Given the description of an element on the screen output the (x, y) to click on. 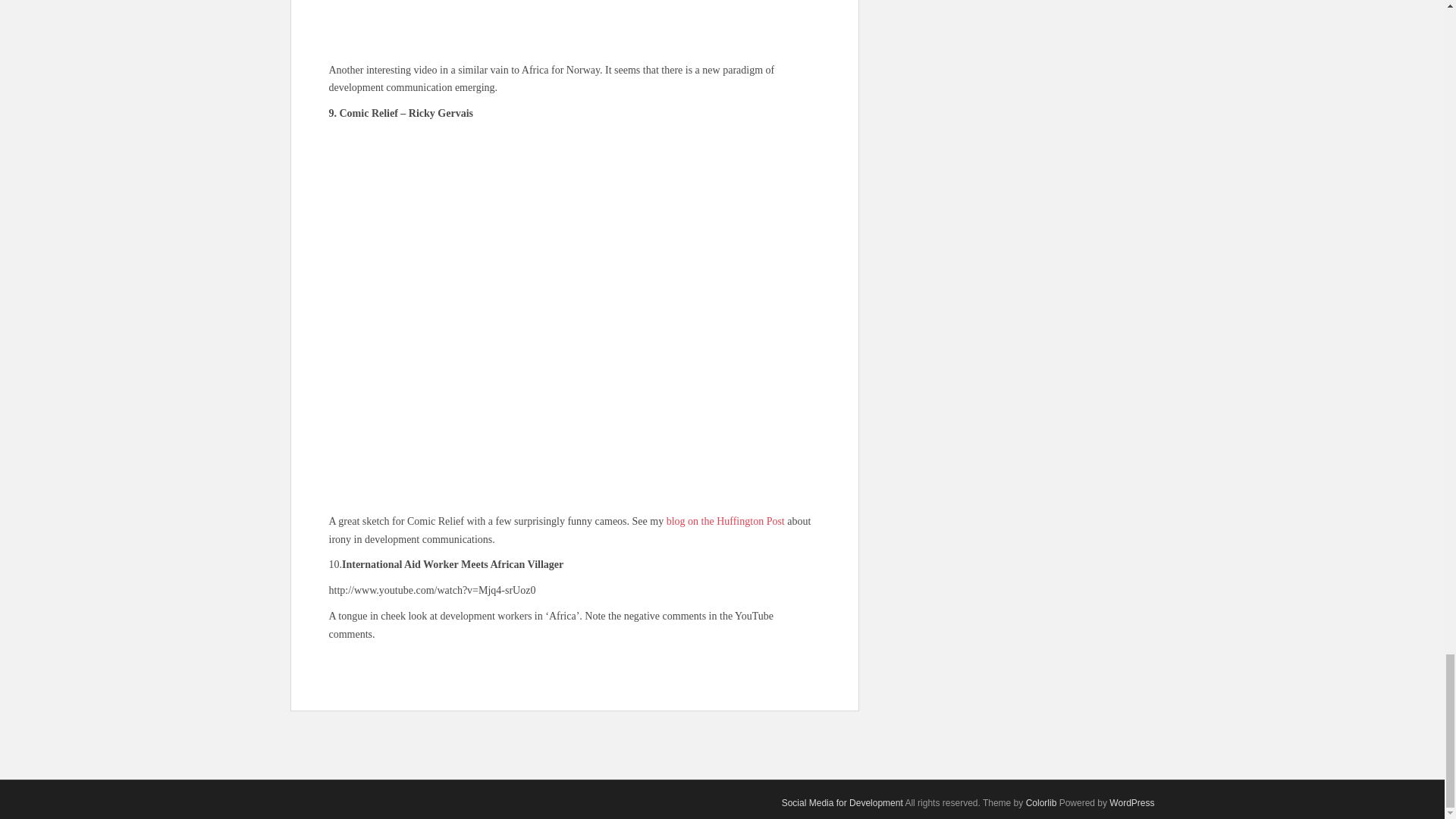
Colorlib (1041, 802)
Social Media for Development (841, 802)
blog on the Huffington Post (725, 521)
Social Media for Development (841, 802)
WordPress (1131, 802)
